Given the description of an element on the screen output the (x, y) to click on. 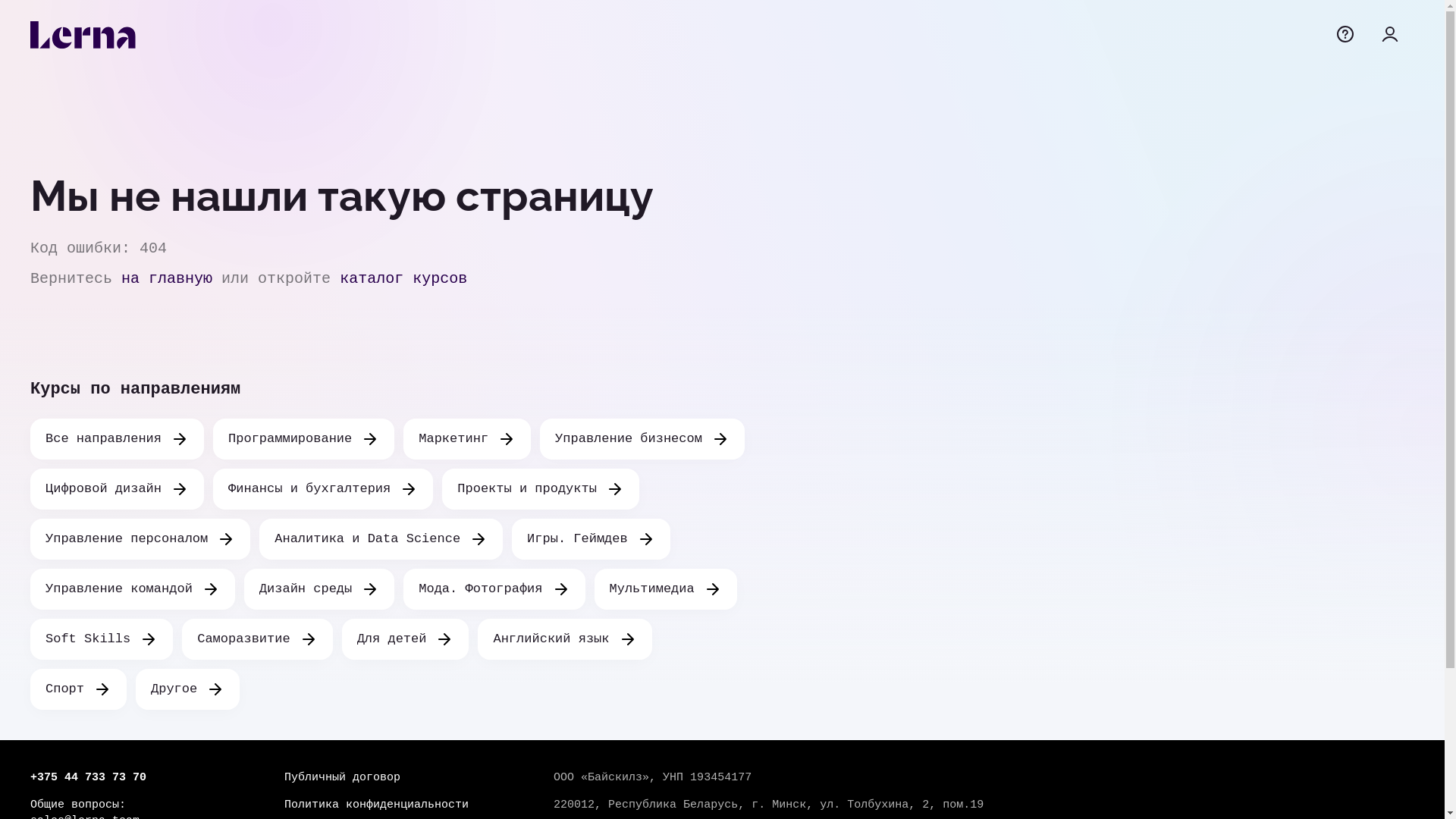
Soft Skills Element type: text (101, 638)
+375 44 733 73 70 Element type: text (122, 777)
